Given the description of an element on the screen output the (x, y) to click on. 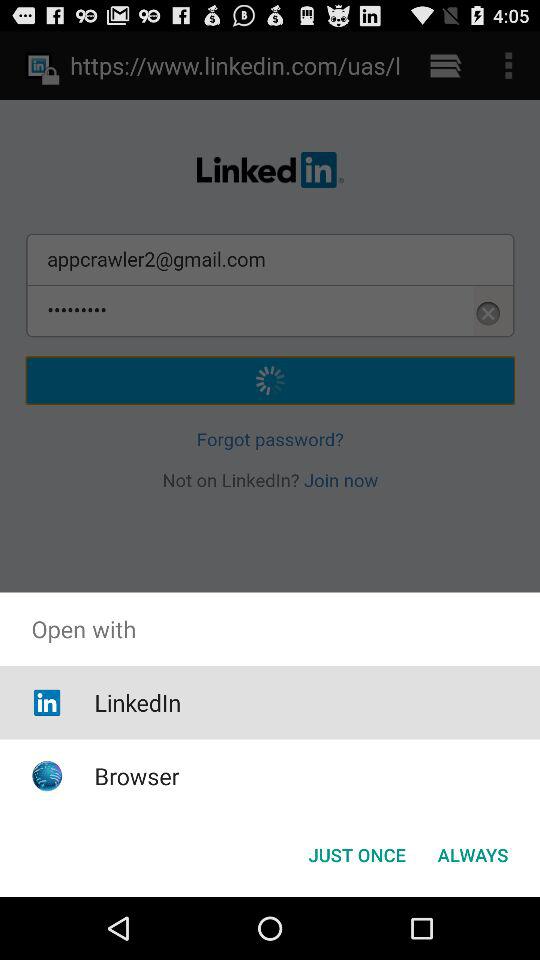
press app below open with app (356, 854)
